Given the description of an element on the screen output the (x, y) to click on. 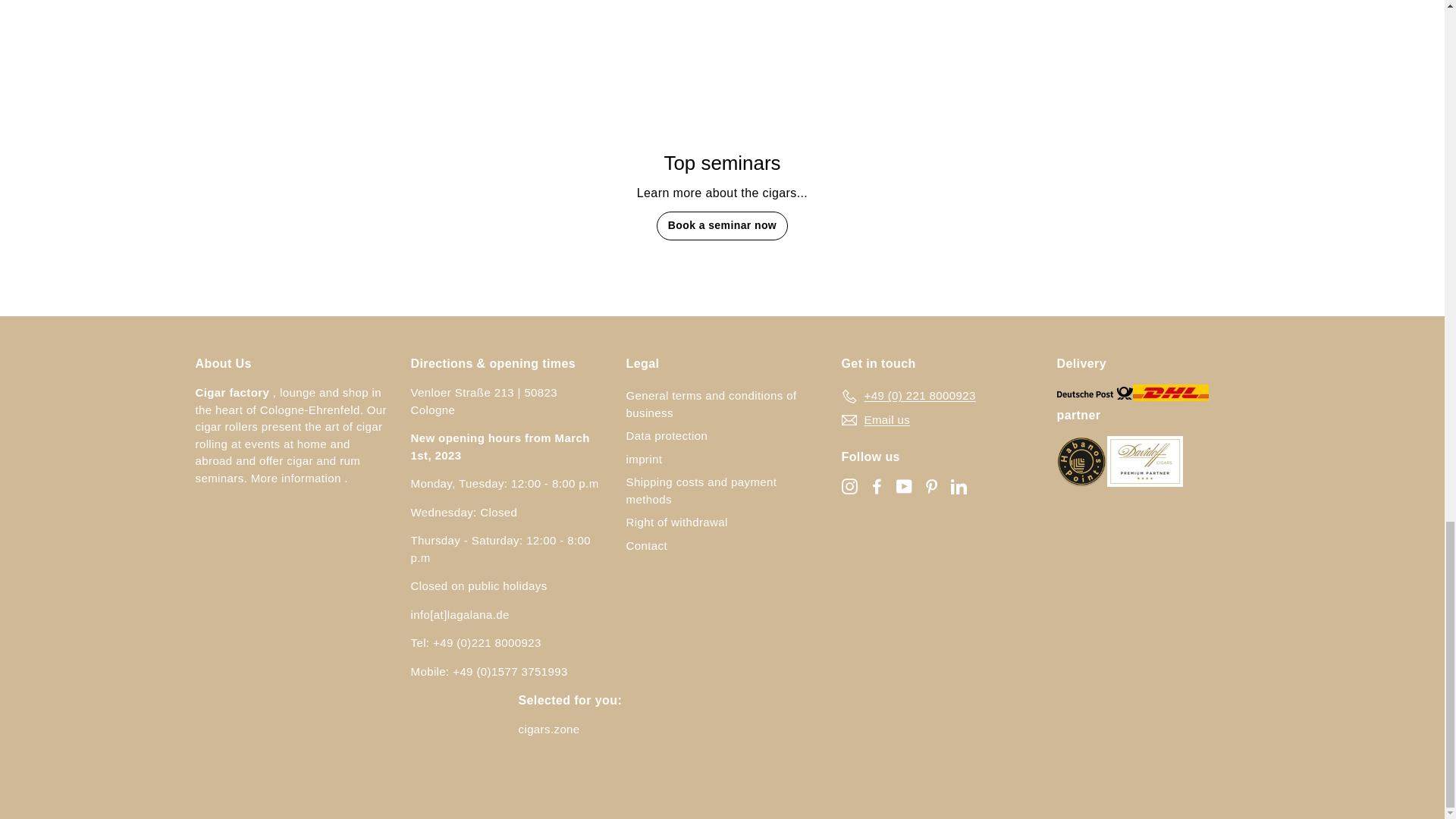
LA GALANA on LinkedIn (958, 486)
LA GALANA on Instagram (849, 486)
LA GALANA on Facebook (877, 486)
About Us (295, 477)
LA GALANA on YouTube (904, 486)
Cigar Zone (548, 728)
LA GALANA on Pinterest (931, 486)
